Given the description of an element on the screen output the (x, y) to click on. 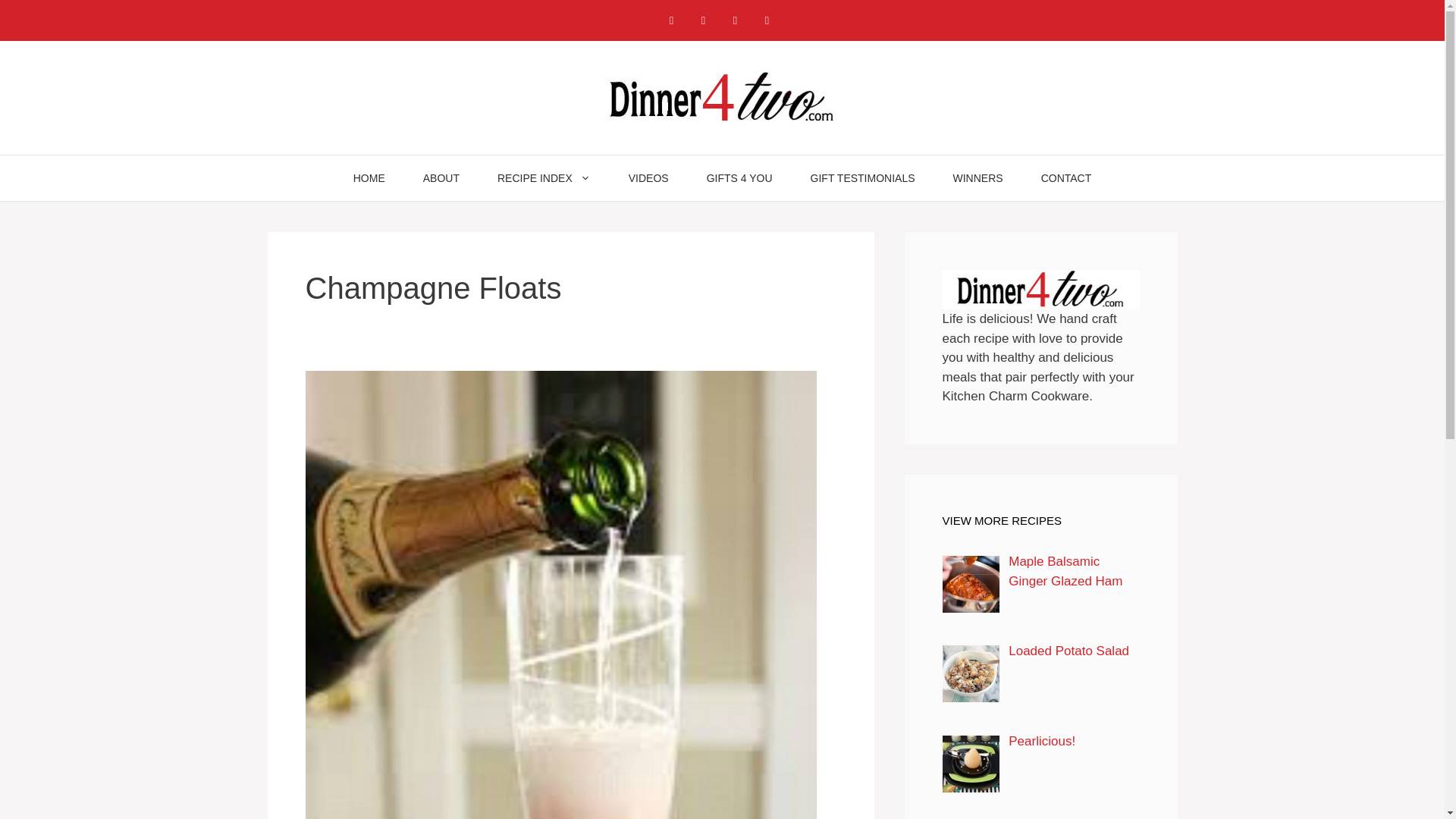
ABOUT (441, 177)
HOME (369, 177)
RECIPE INDEX (544, 177)
Dinner 4 Two (722, 96)
Twitter (766, 20)
Dinner 4 Two (722, 97)
Facebook (671, 20)
Instagram (703, 20)
Pinterest (735, 20)
